Given the description of an element on the screen output the (x, y) to click on. 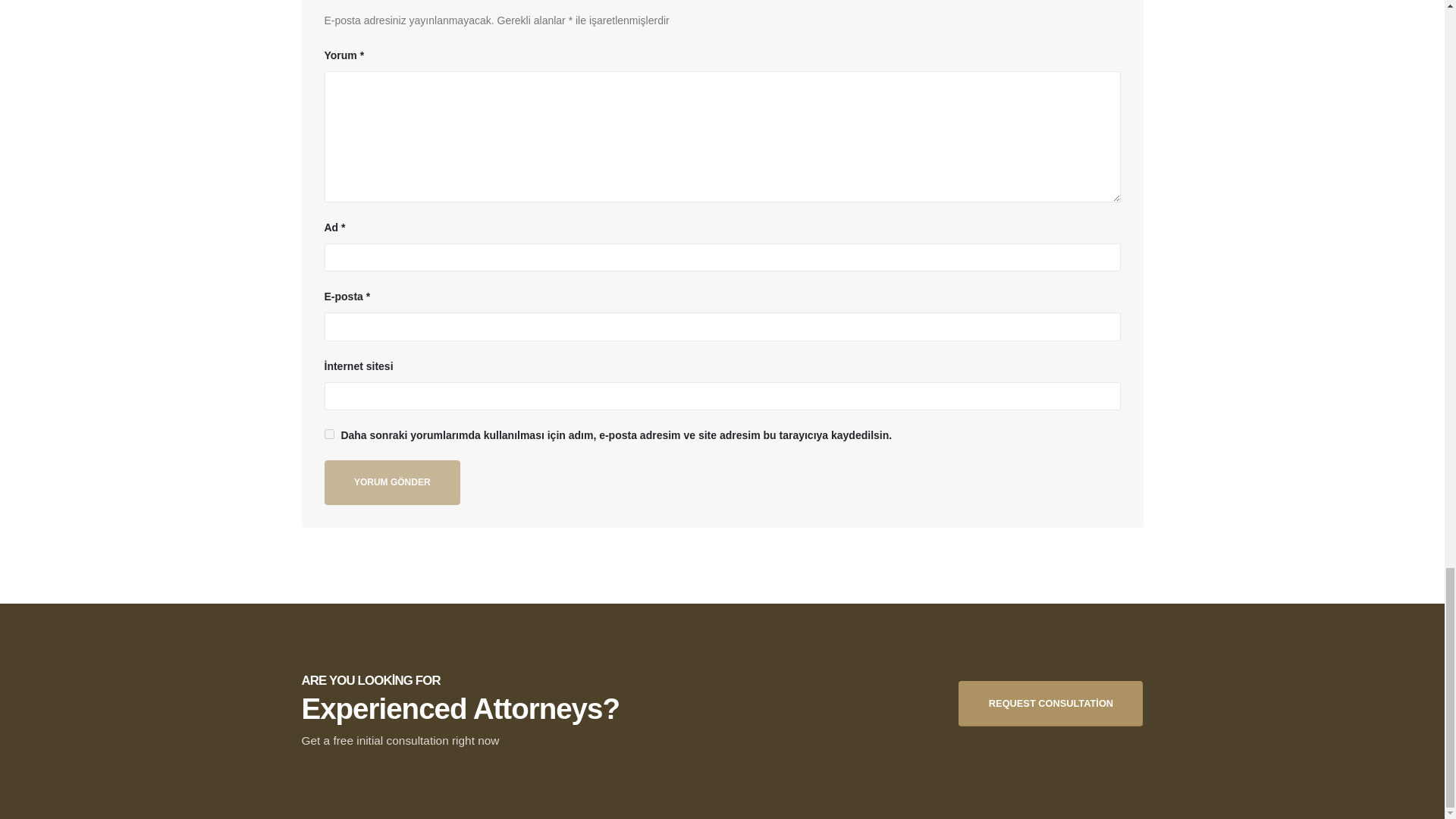
Contact (1050, 703)
yes (329, 433)
